Given the description of an element on the screen output the (x, y) to click on. 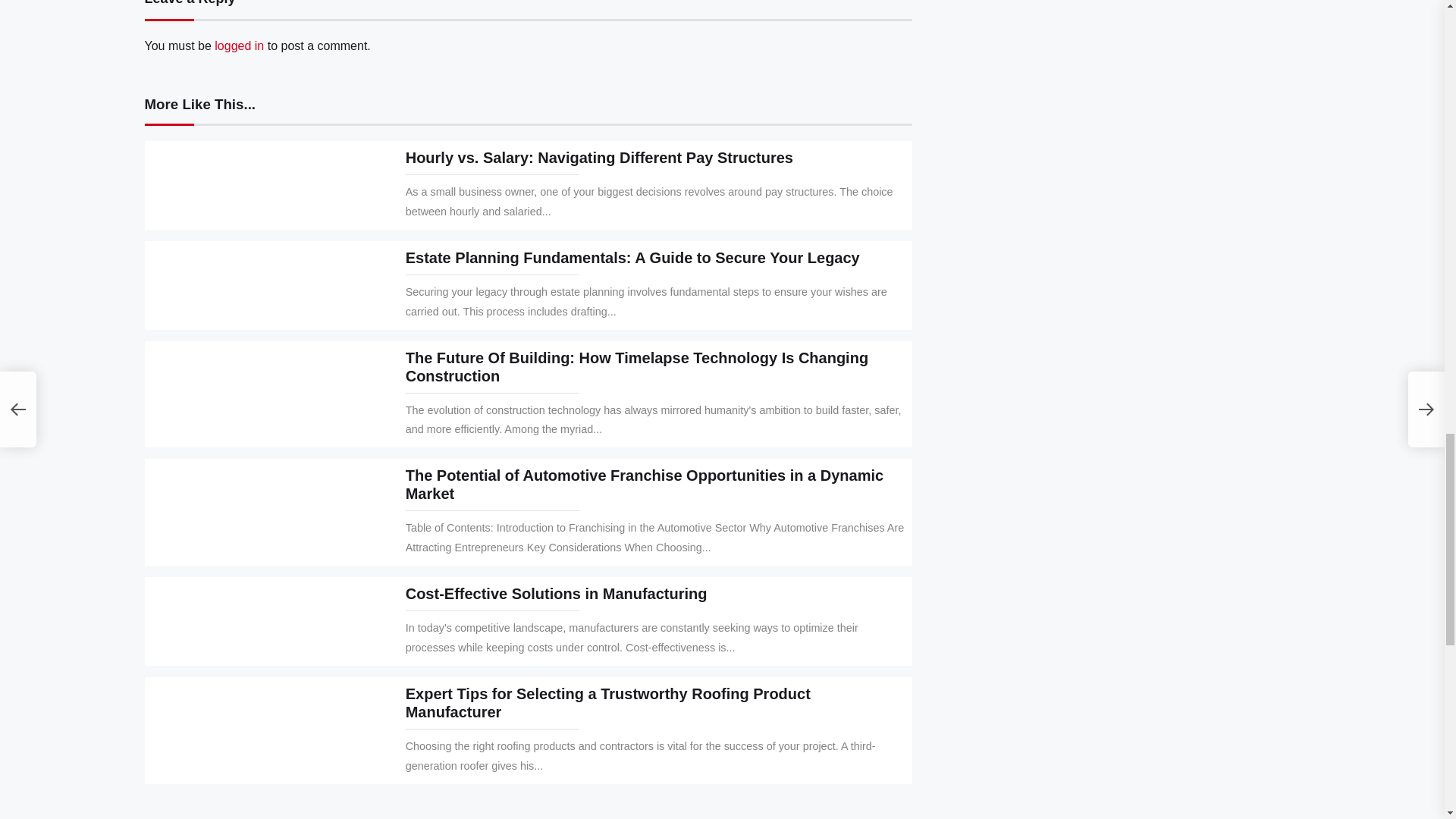
logged in (238, 45)
Hourly vs. Salary: Navigating Different Pay Structures (599, 157)
Estate Planning Fundamentals: A Guide to Secure Your Legacy (633, 257)
